Given the description of an element on the screen output the (x, y) to click on. 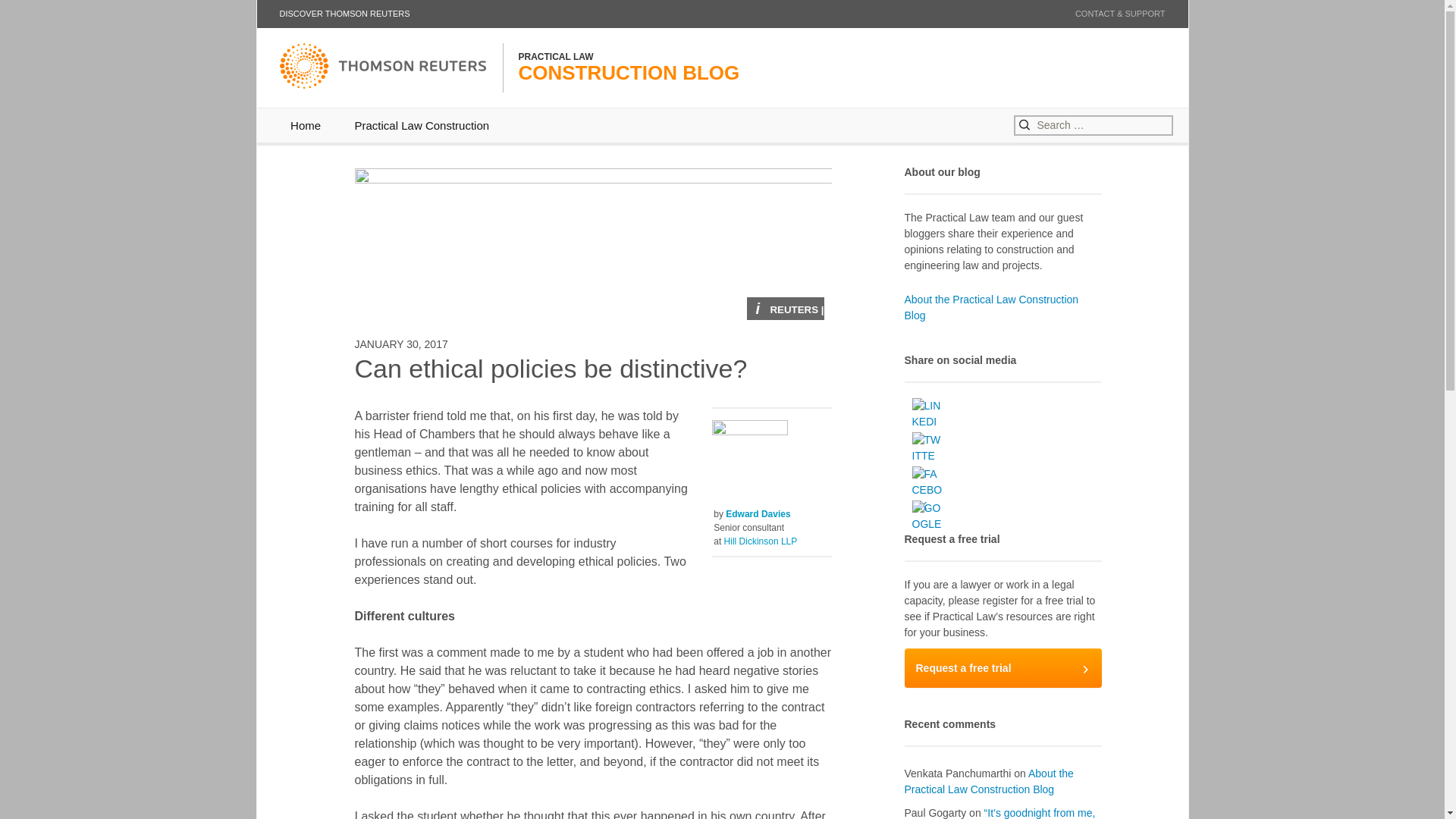
About the Practical Law Construction Blog (1002, 667)
DISCOVER THOMSON REUTERS (988, 781)
Home (344, 13)
Skip to content (305, 125)
GOOGLE (37, 14)
Skip to content (926, 516)
Edward Davies (991, 307)
